Given the description of an element on the screen output the (x, y) to click on. 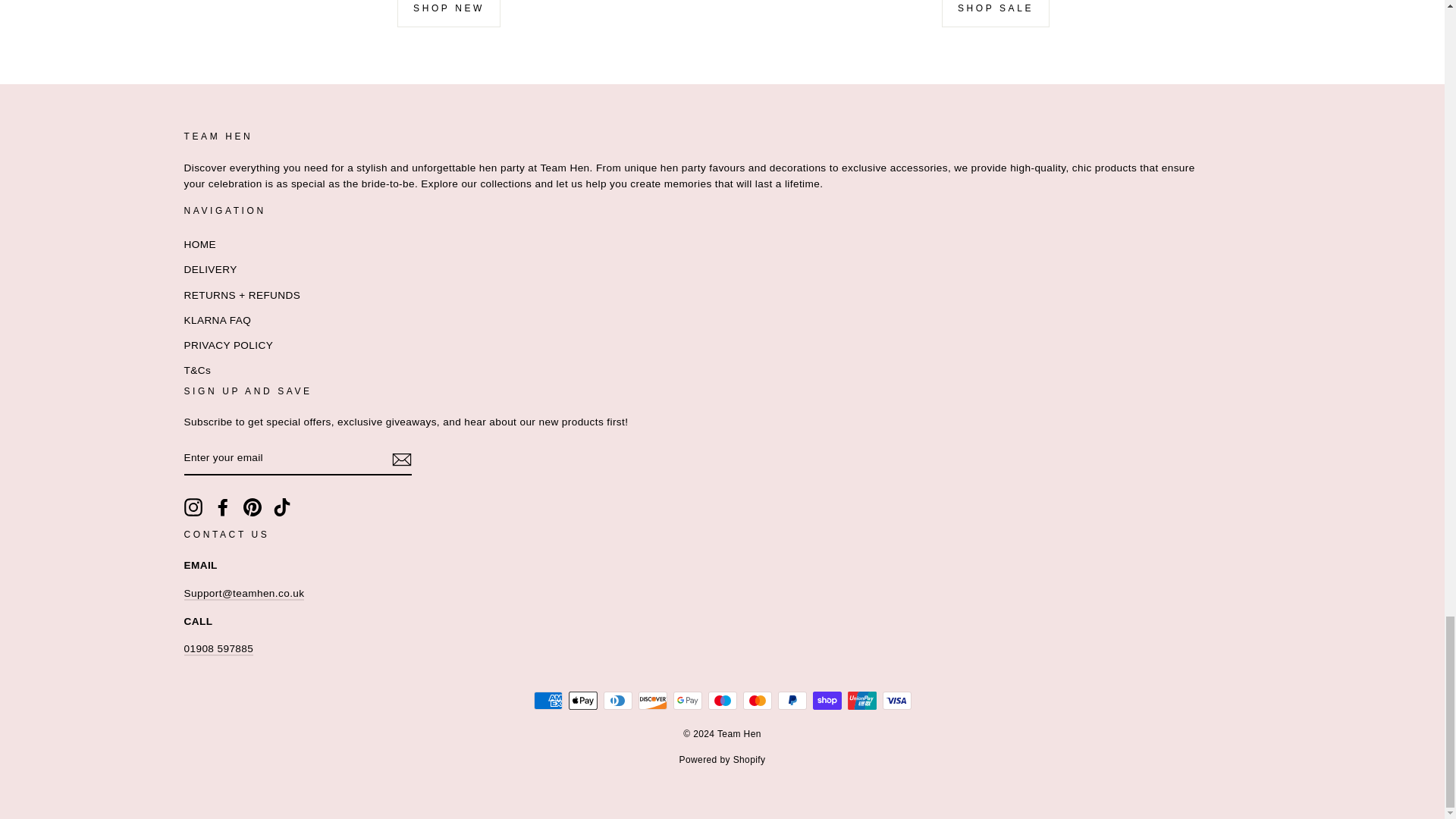
Team Hen on Facebook (222, 506)
Team Hen on Instagram (192, 506)
Team Hen on TikTok (282, 506)
American Express (548, 700)
Team Hen on Pinterest (251, 506)
Apple Pay (582, 700)
